Given the description of an element on the screen output the (x, y) to click on. 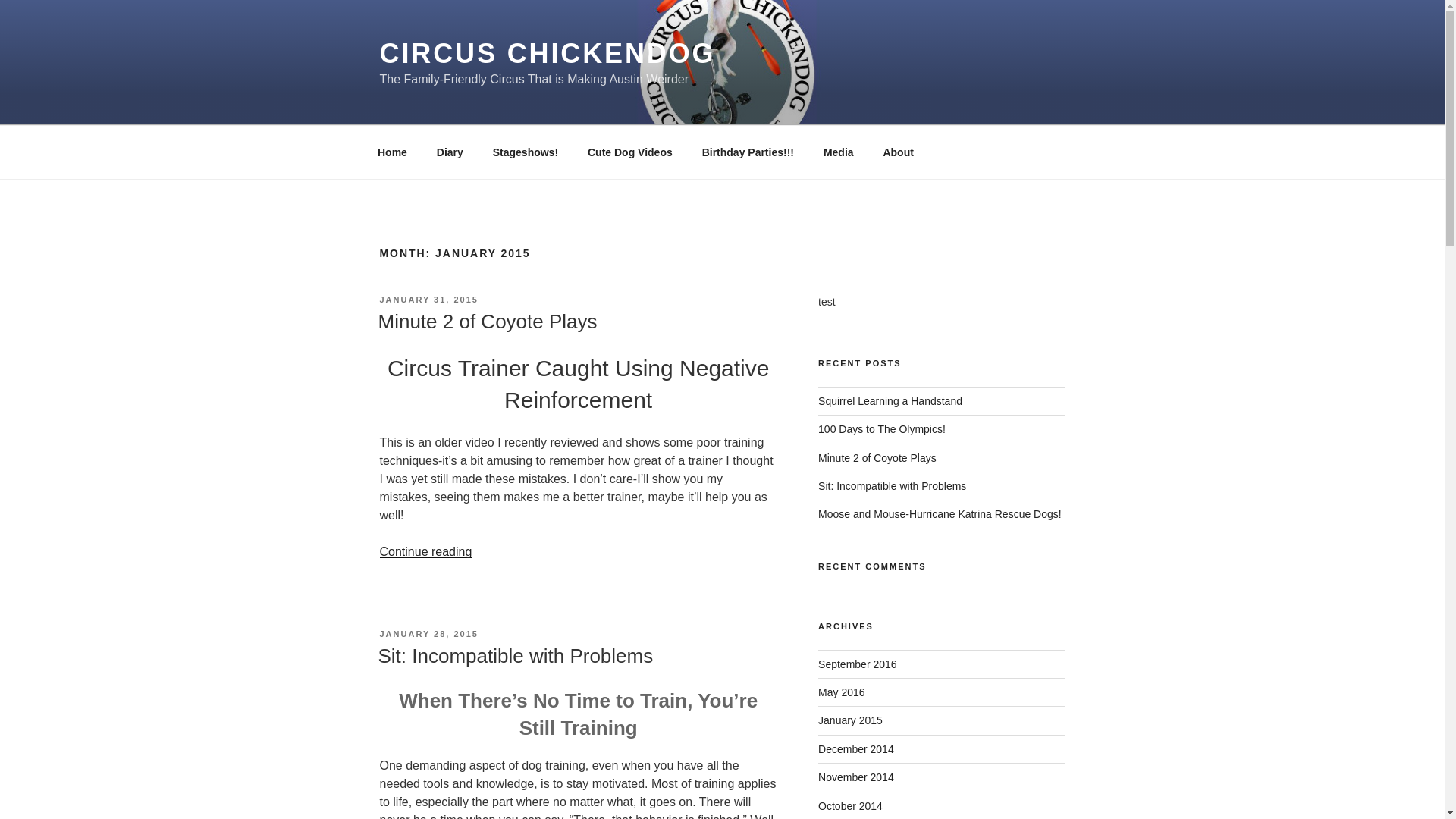
Minute 2 of Coyote Plays (877, 458)
January 2015 (850, 720)
About (897, 151)
JANUARY 28, 2015 (427, 633)
September 2016 (857, 664)
100 Days to The Olympics! (881, 428)
Sit: Incompatible with Problems (514, 655)
October 2014 (850, 806)
Cute Dog Videos (629, 151)
December 2014 (855, 748)
Squirrel Learning a Handstand (890, 400)
Birthday Parties!!! (747, 151)
Diary (449, 151)
Sit: Incompatible with Problems (892, 485)
Stageshows! (524, 151)
